Given the description of an element on the screen output the (x, y) to click on. 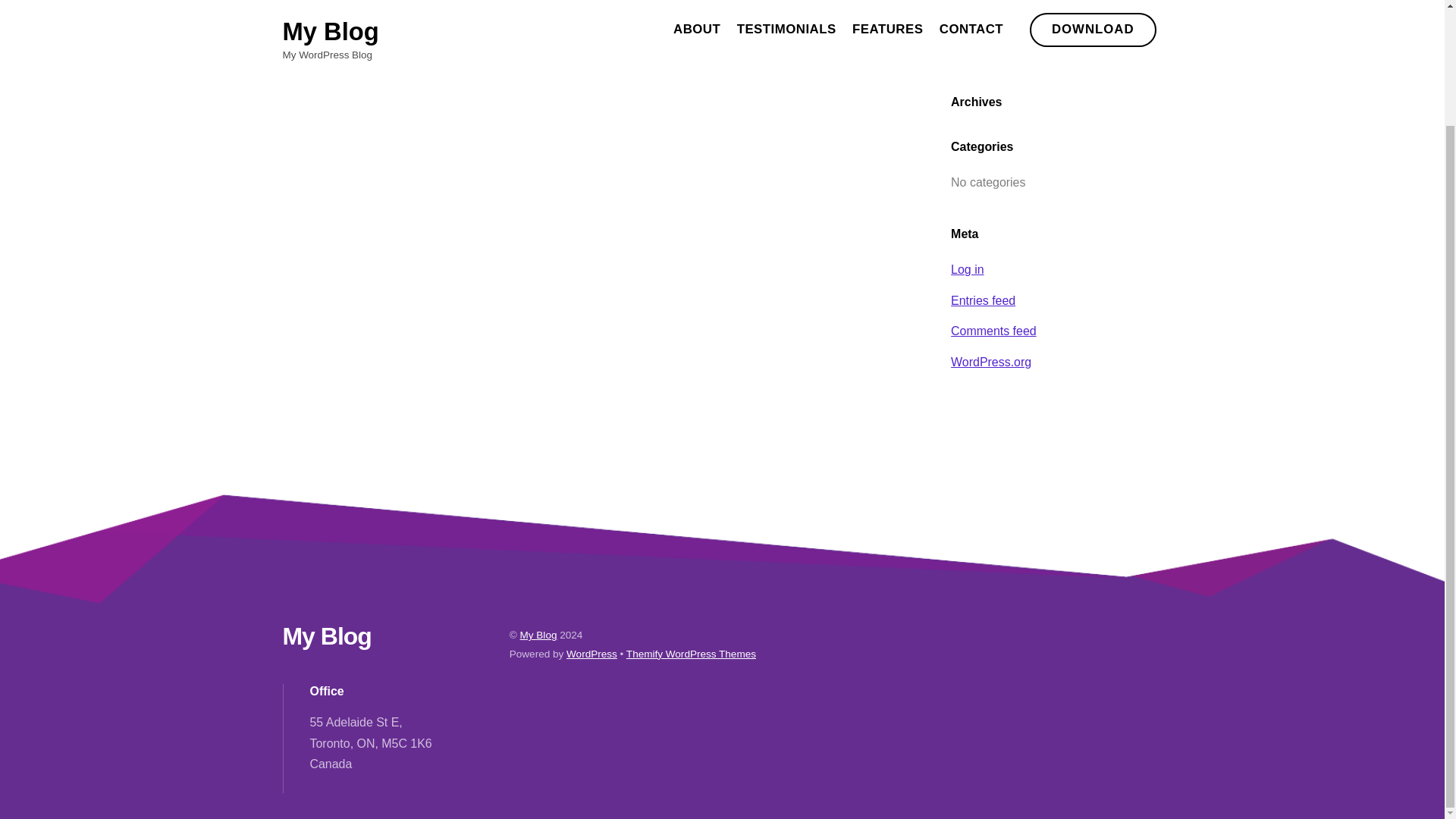
My Blog (326, 636)
My Blog (326, 636)
WordPress (591, 654)
Themify WordPress Themes (690, 654)
Comments feed (993, 330)
Log in (967, 269)
My Blog (538, 634)
WordPress.org (990, 361)
Search (1055, 9)
Entries feed (982, 300)
